Given the description of an element on the screen output the (x, y) to click on. 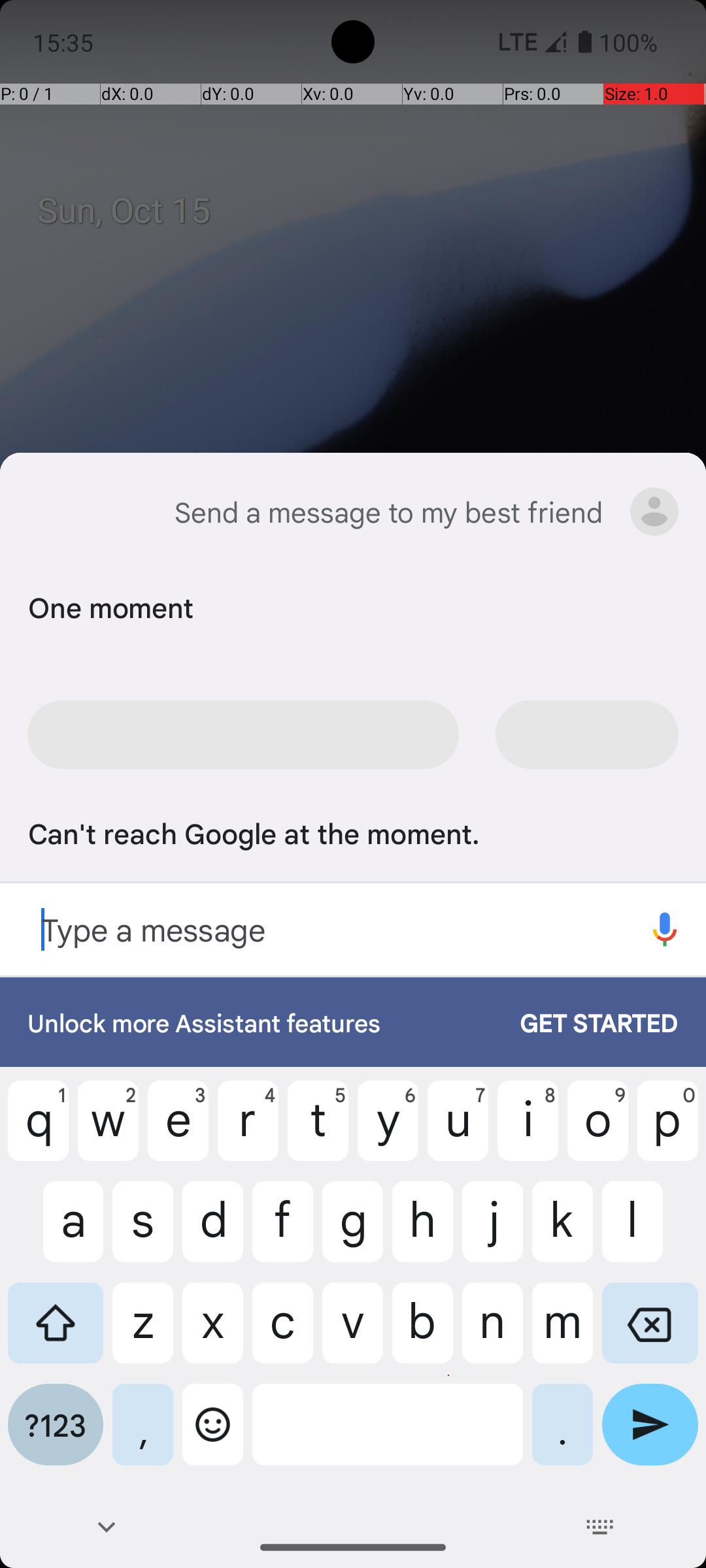
Tap to dismiss Assistant Element type: android.view.ViewGroup (353, 574)
Google Assistant widget. Element type: android.support.v7.widget.RecyclerView (353, 714)
Type a message Element type: android.widget.EditText (311, 929)
Unlock more Assistant features Element type: android.widget.TextView (259, 1021)
GET STARTED Element type: android.widget.TextView (585, 1021)
Open explore page Element type: android.widget.ImageView (664, 928)
Google assistant Element type: android.widget.ImageView (48, 511)
Send a message to my best friend Element type: com.google.android.apps.gsa.searchplate.widget.StreamingTextView (387, 511)
Google Assistant menu. Element type: android.widget.ImageView (654, 511)
One moment Element type: android.widget.TextView (349, 606)
Can't reach Google at the moment. Element type: android.widget.TextView (349, 832)
Send Element type: android.widget.FrameLayout (649, 1434)
